Given the description of an element on the screen output the (x, y) to click on. 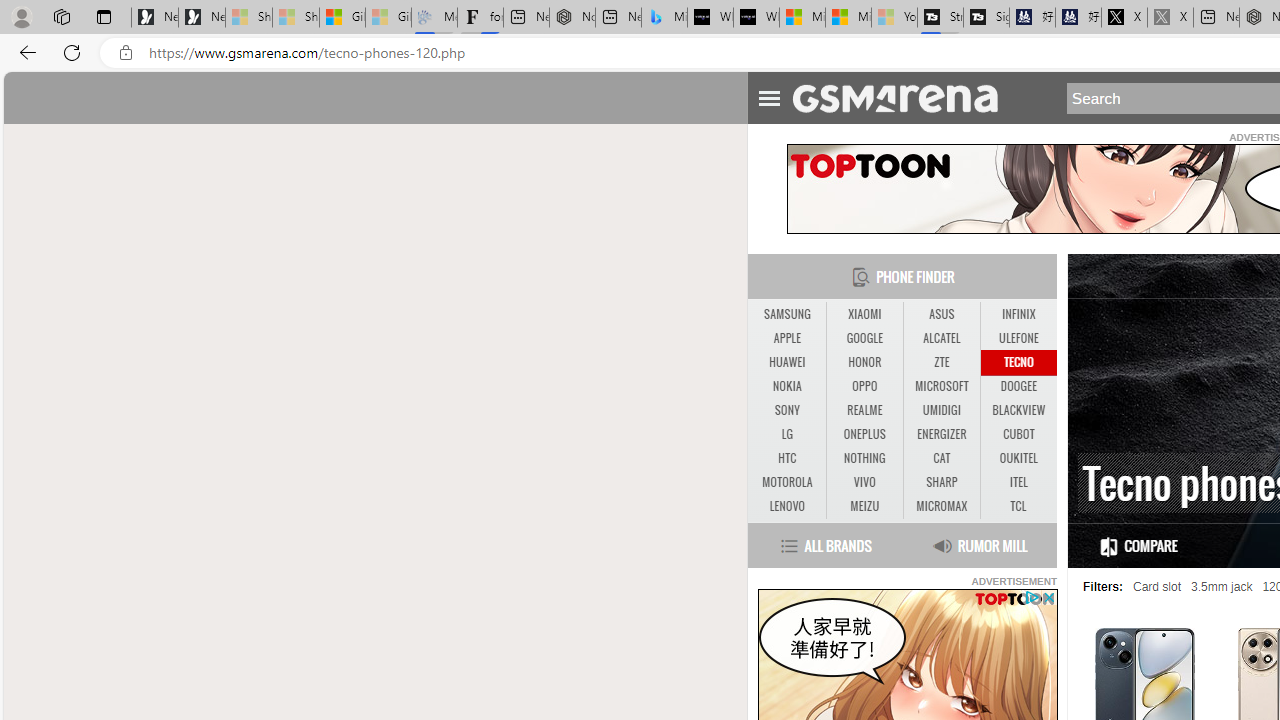
ZTE (941, 362)
XIAOMI (863, 313)
MEIZU (864, 506)
MOTOROLA (786, 482)
OPPO (863, 385)
Card slot (1156, 587)
INFINIX (1018, 314)
Workspaces (61, 16)
AutomationID: anchor (904, 97)
ONEPLUS (863, 434)
ITEL (1018, 482)
HONOR (863, 362)
XIAOMI (864, 314)
